Given the description of an element on the screen output the (x, y) to click on. 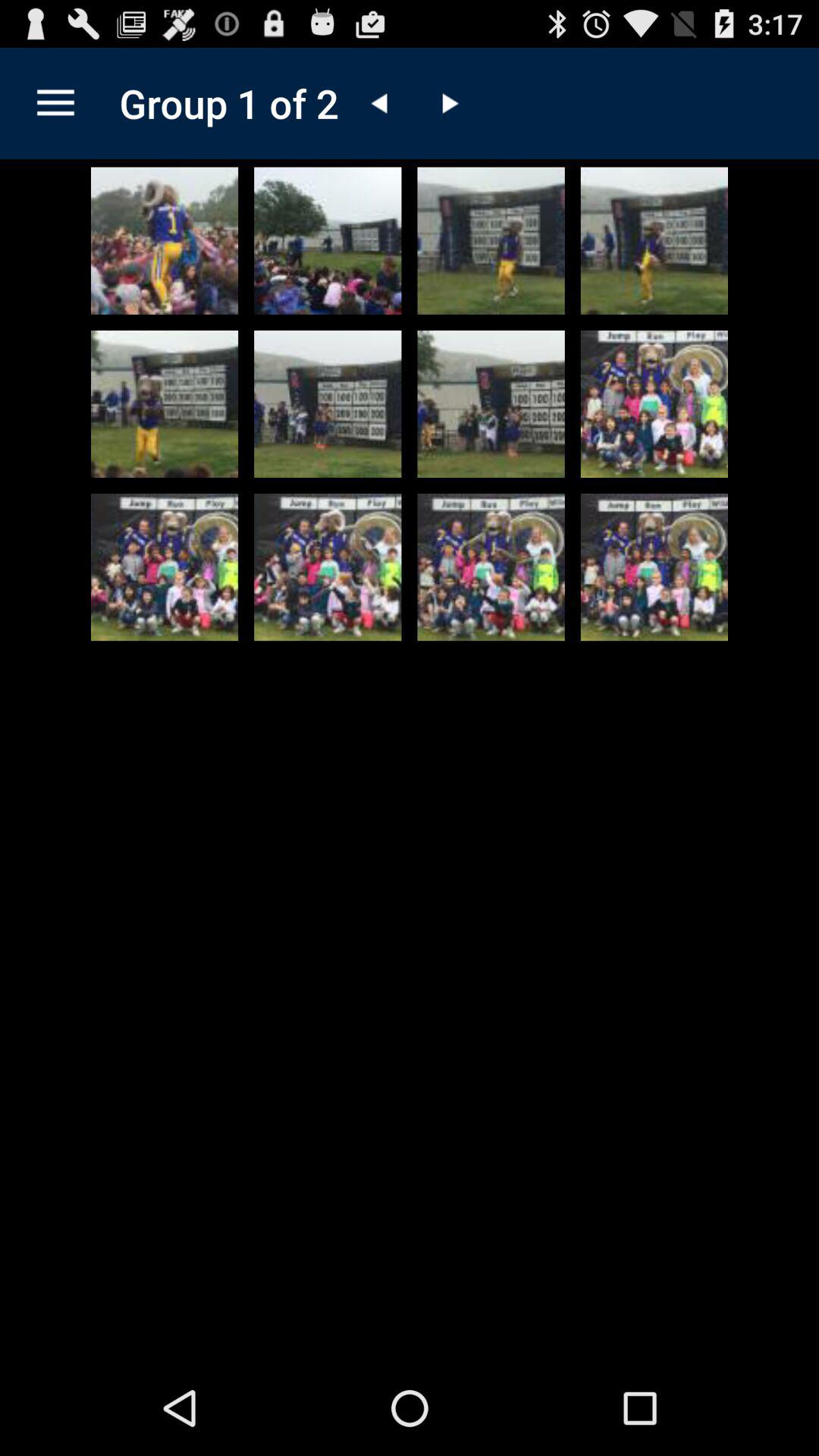
go to group 2 (448, 103)
